Given the description of an element on the screen output the (x, y) to click on. 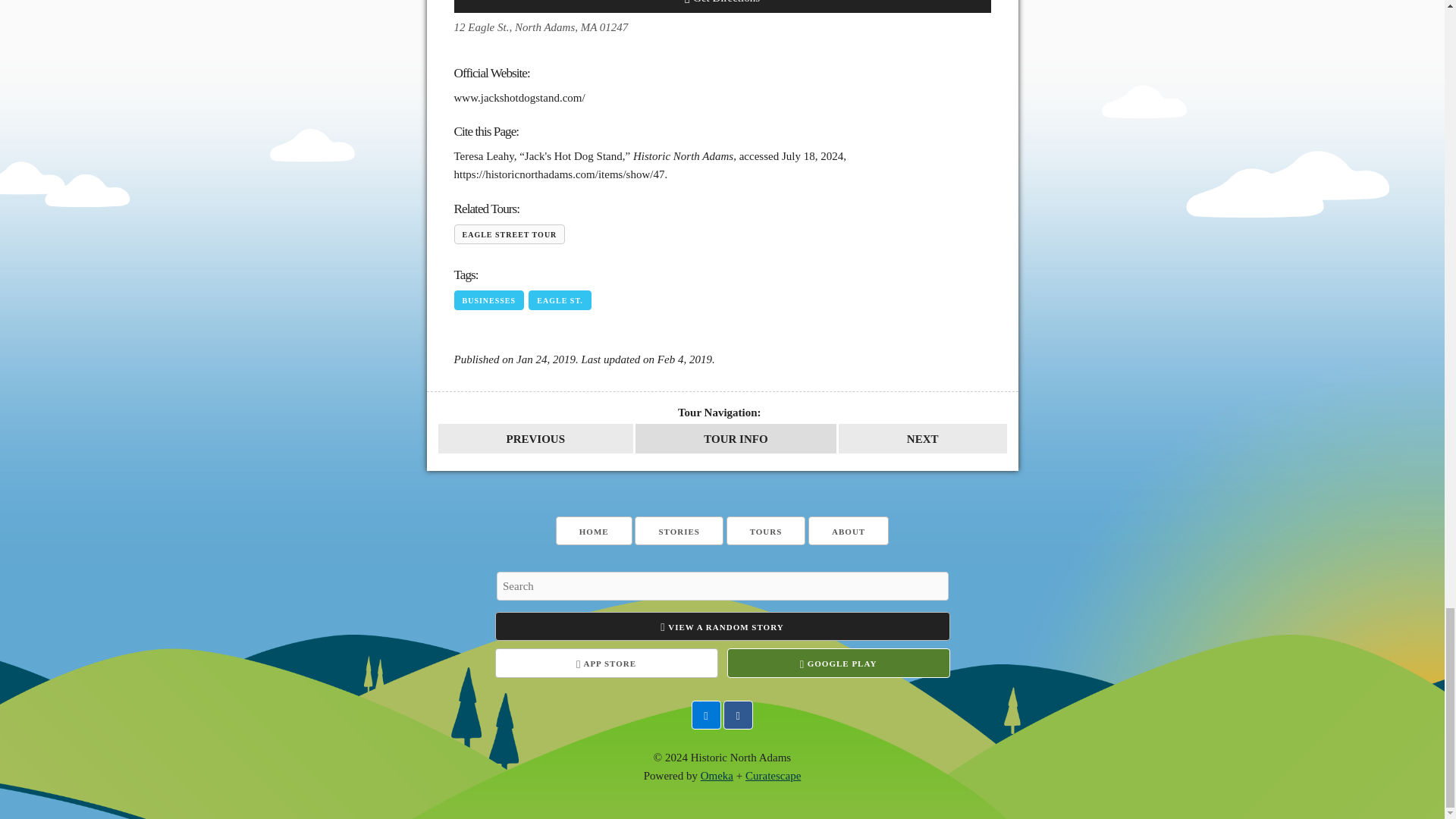
TOUR INFO (734, 438)
EAGLE STREET TOUR (508, 234)
APP STORE (606, 663)
BUSINESSES (488, 300)
Get Directions on Google Maps (721, 6)
TOURS (766, 531)
STORIES (678, 531)
PREVIOUS (535, 438)
GOOGLE PLAY (837, 663)
Previous stop on Tour (535, 438)
VIEW A RANDOM STORY (722, 626)
HOME (593, 531)
ABOUT (848, 531)
EAGLE ST. (559, 300)
NEXT (922, 438)
